Given the description of an element on the screen output the (x, y) to click on. 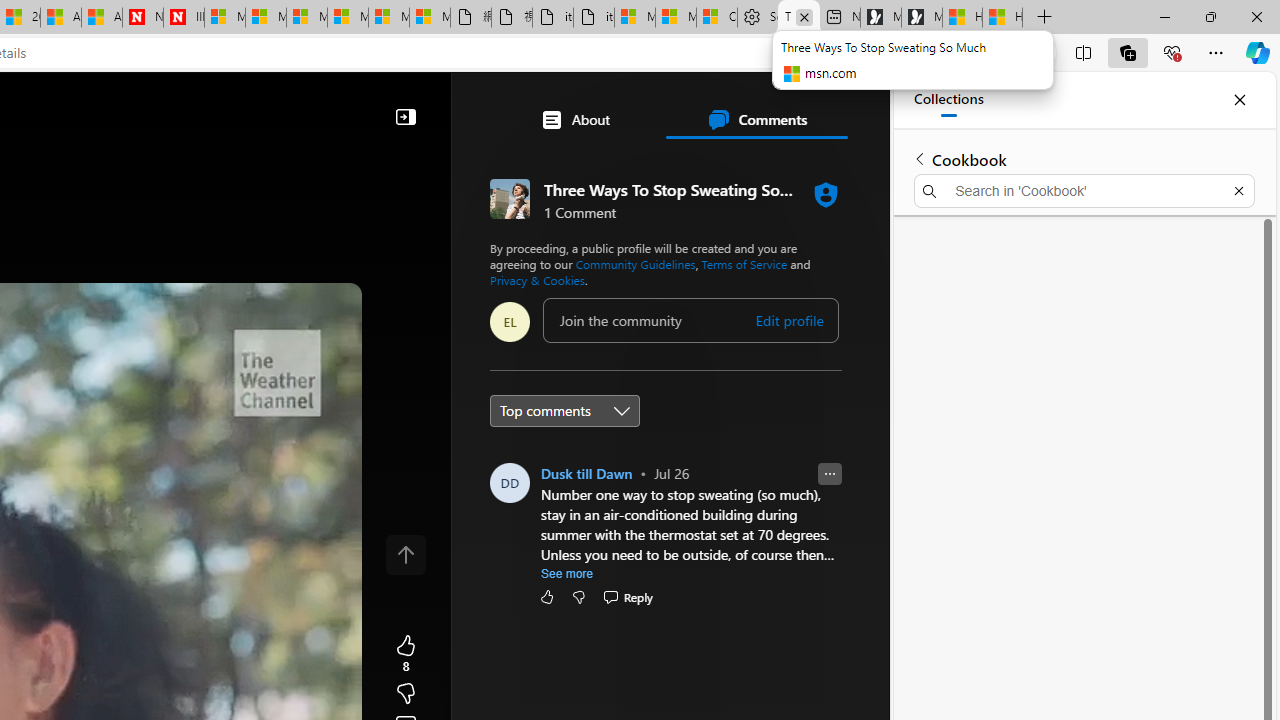
Reply Reply Comment (627, 596)
Fix Boat Bliss (694, 288)
Sort comments by (565, 410)
Back to list of collections (920, 158)
How to Use a TV as a Computer Monitor (1002, 17)
